Given the description of an element on the screen output the (x, y) to click on. 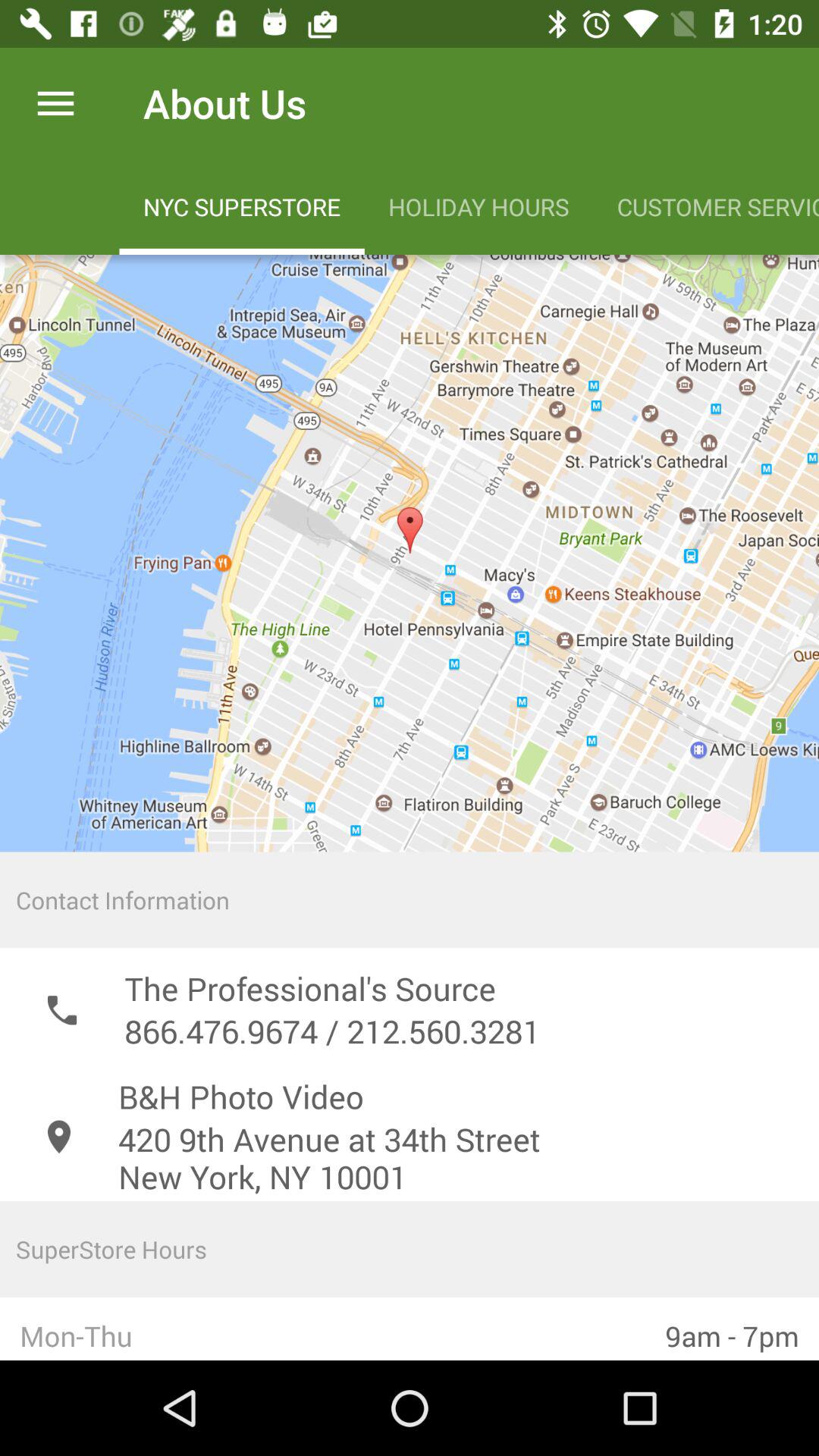
tap superstore hours (409, 1249)
